Given the description of an element on the screen output the (x, y) to click on. 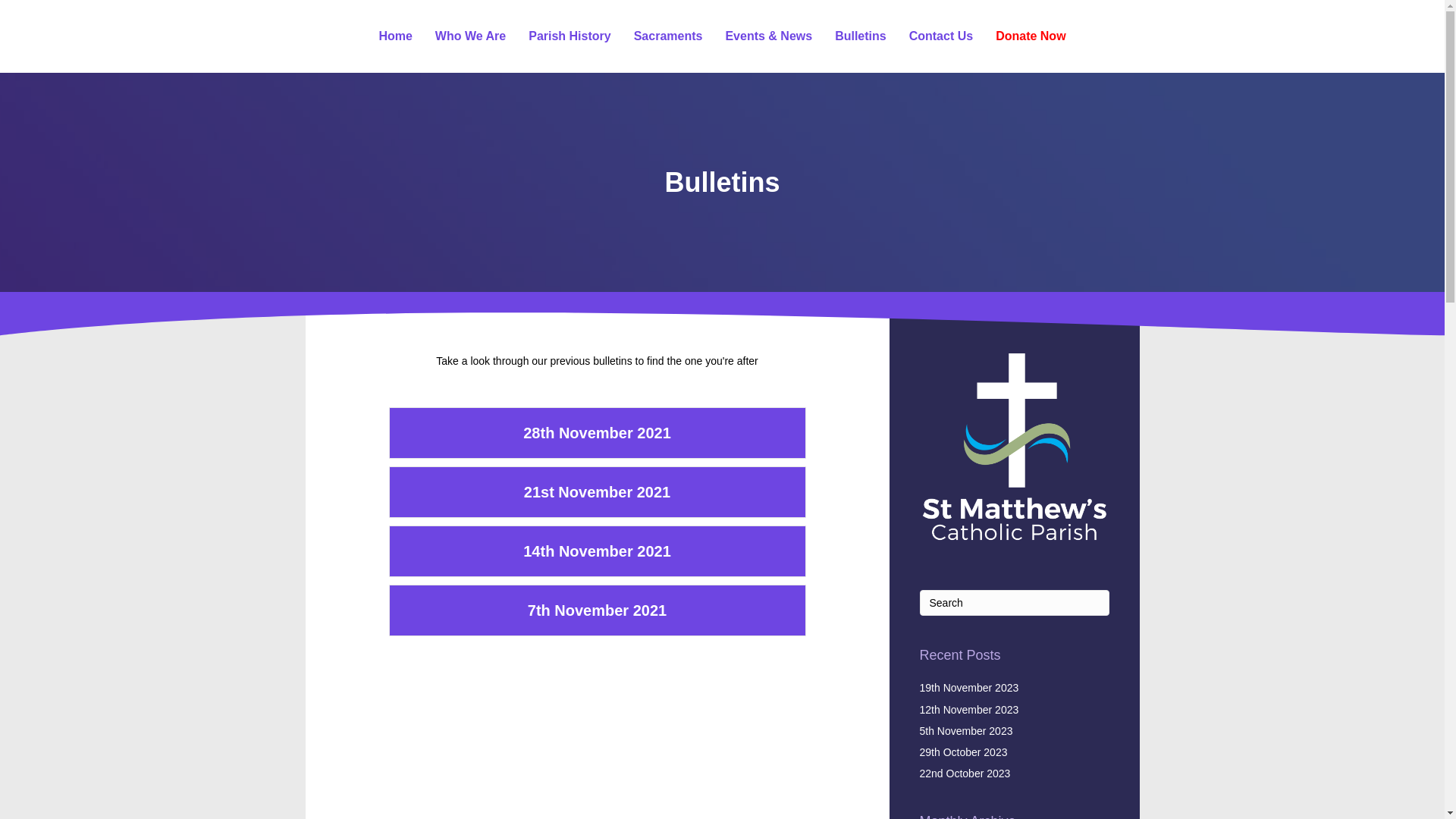
7th November 2021 Element type: text (596, 610)
5th November 2023 Element type: text (965, 730)
29th October 2023 Element type: text (963, 752)
Sacraments Element type: text (668, 36)
Events & News Element type: text (768, 36)
Parish History Element type: text (569, 36)
Windsor Logo Element type: hover (1013, 448)
28th November 2021 Element type: text (597, 432)
Bulletins Element type: text (860, 36)
19th November 2023 Element type: text (968, 687)
Home Element type: text (395, 36)
Contact Us Element type: text (940, 36)
12th November 2023 Element type: text (968, 709)
22nd October 2023 Element type: text (964, 773)
Type and press Enter to search. Element type: hover (1013, 602)
Who We Are Element type: text (470, 36)
21st November 2021 Element type: text (597, 491)
14th November 2021 Element type: text (597, 550)
Donate Now Element type: text (1030, 36)
